Given the description of an element on the screen output the (x, y) to click on. 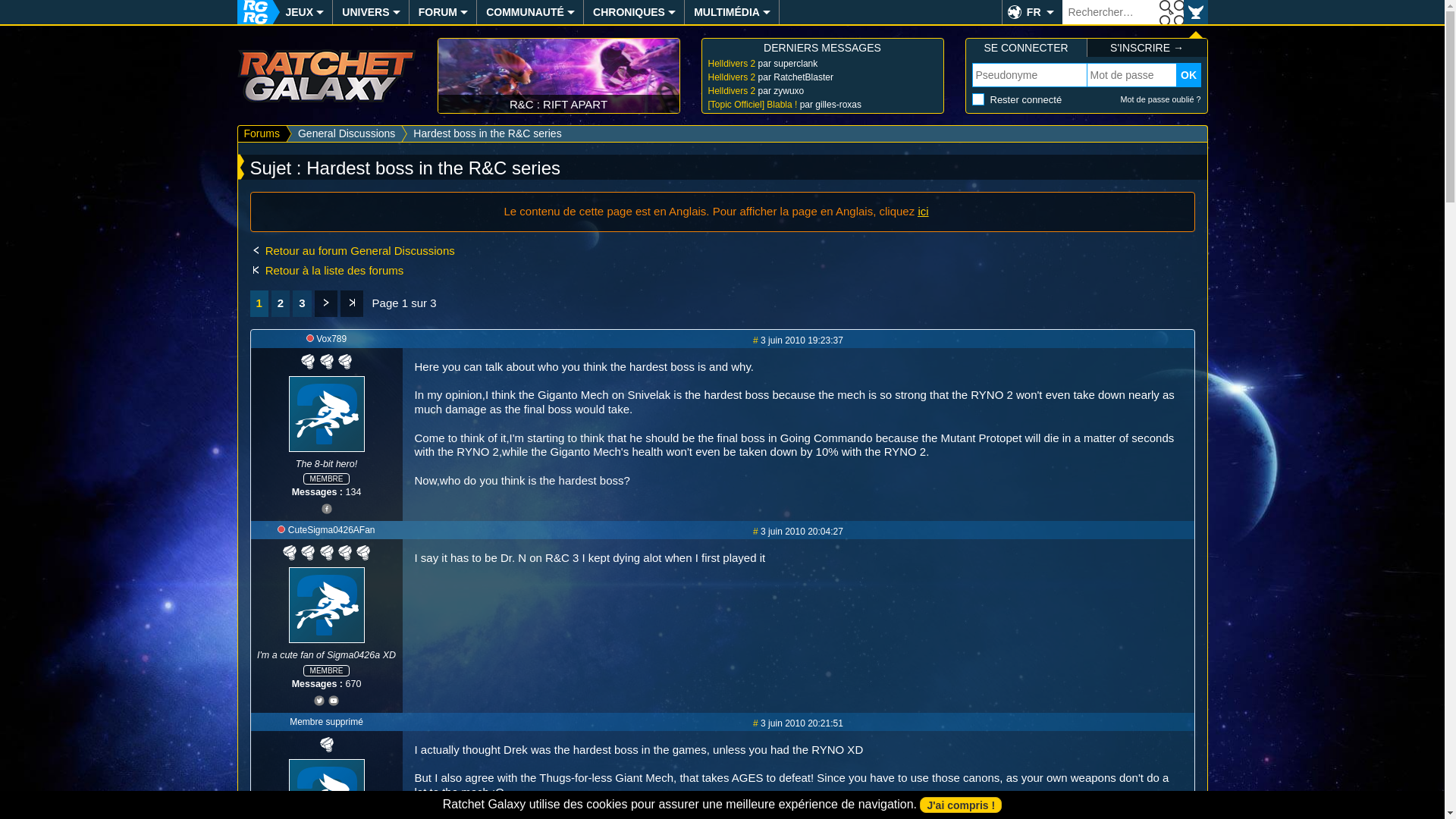
offline (309, 338)
OK (1170, 12)
Helldivers 2 par RatchetBlaster - 15 mars 2024 (822, 77)
Accueil (250, 12)
Helldivers 2 par superclank - 19 mars 2024 (822, 63)
OK (1170, 12)
FORUM (436, 12)
Helldivers 2 par zywuxo - 11 mars 2024 (822, 90)
OK (1188, 74)
